Given the description of an element on the screen output the (x, y) to click on. 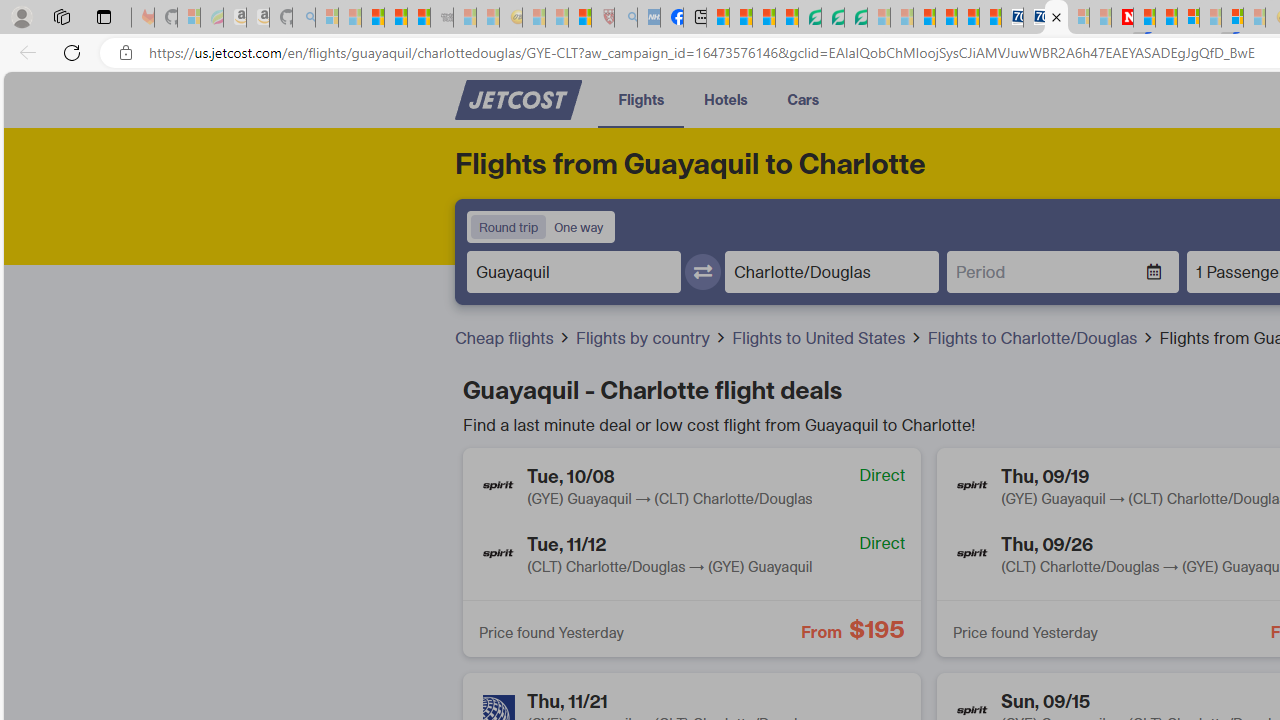
Flights to United States (828, 337)
Arrival place (831, 271)
14 Common Myths Debunked By Scientific Facts (1166, 17)
Microsoft-Report a Concern to Bing - Sleeping (188, 17)
Spirit Airlines (973, 553)
Back (24, 52)
Refresh (72, 52)
Personal Profile (21, 16)
Cheap Hotels - Save70.com (1034, 17)
Class: absolute inset-0 (692, 551)
New tab (694, 17)
Terms of Use Agreement (832, 17)
New Report Confirms 2023 Was Record Hot | Watch (419, 17)
